Given the description of an element on the screen output the (x, y) to click on. 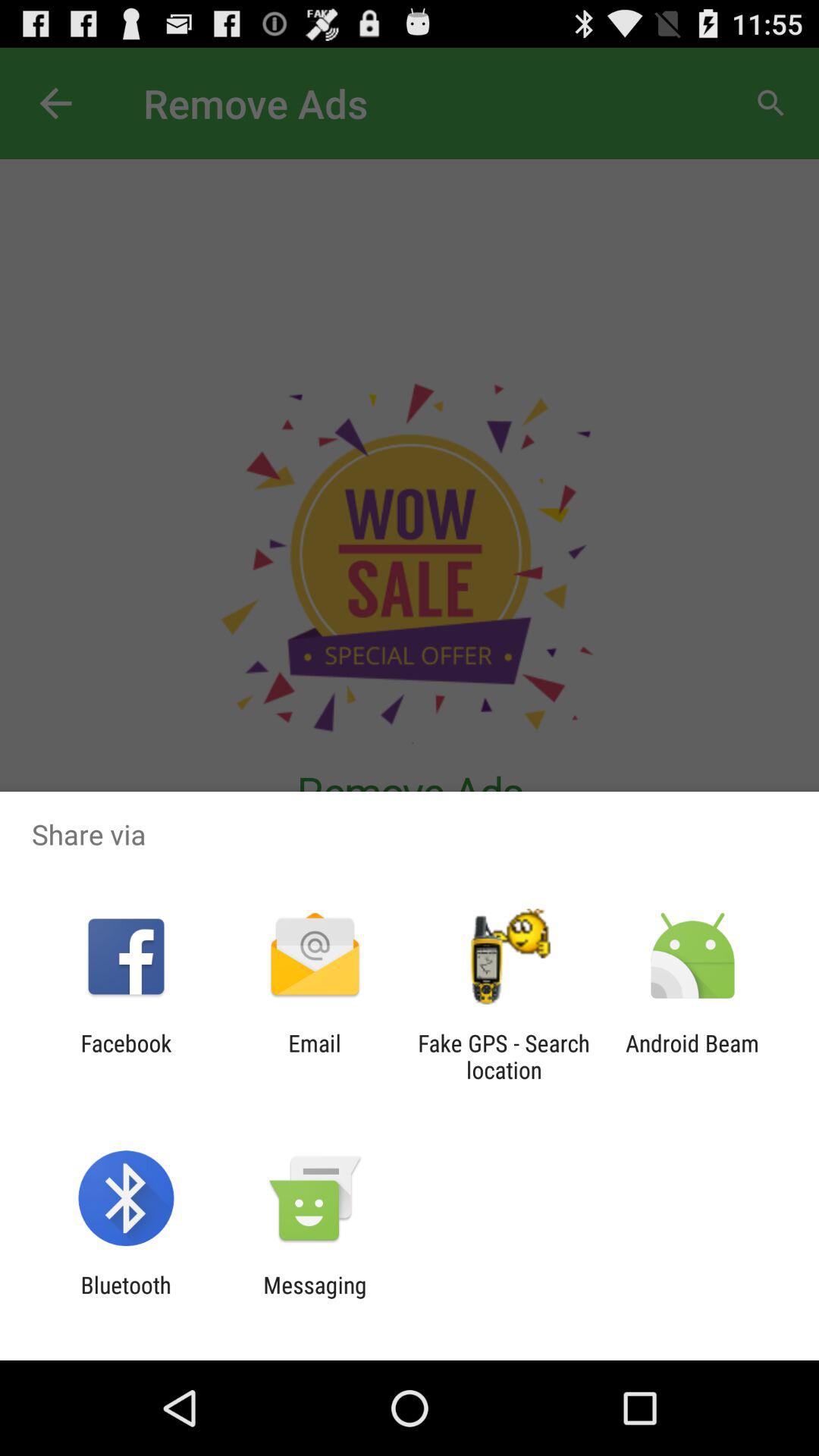
swipe to the android beam app (692, 1056)
